Given the description of an element on the screen output the (x, y) to click on. 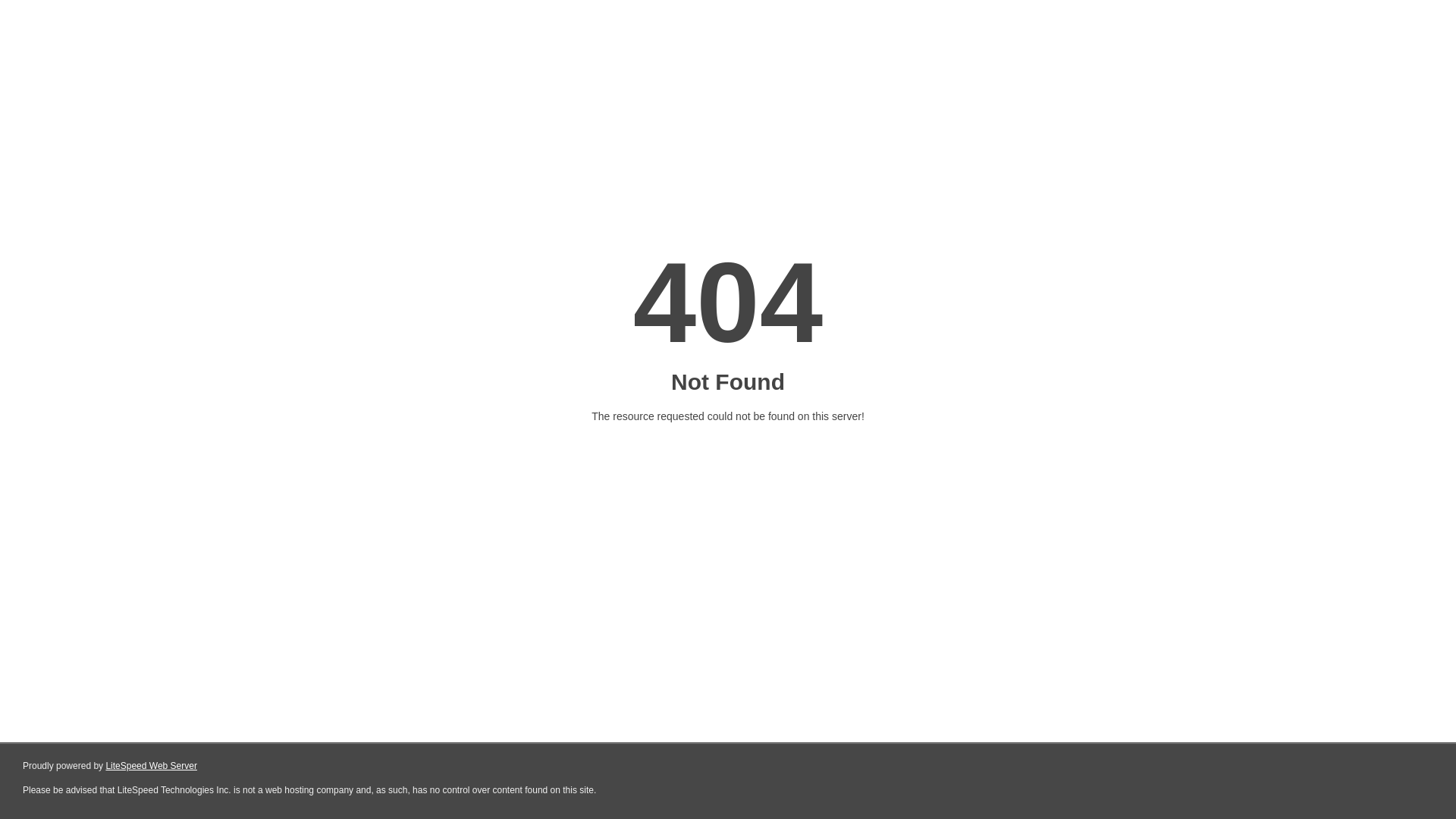
LiteSpeed Web Server Element type: text (151, 765)
